Given the description of an element on the screen output the (x, y) to click on. 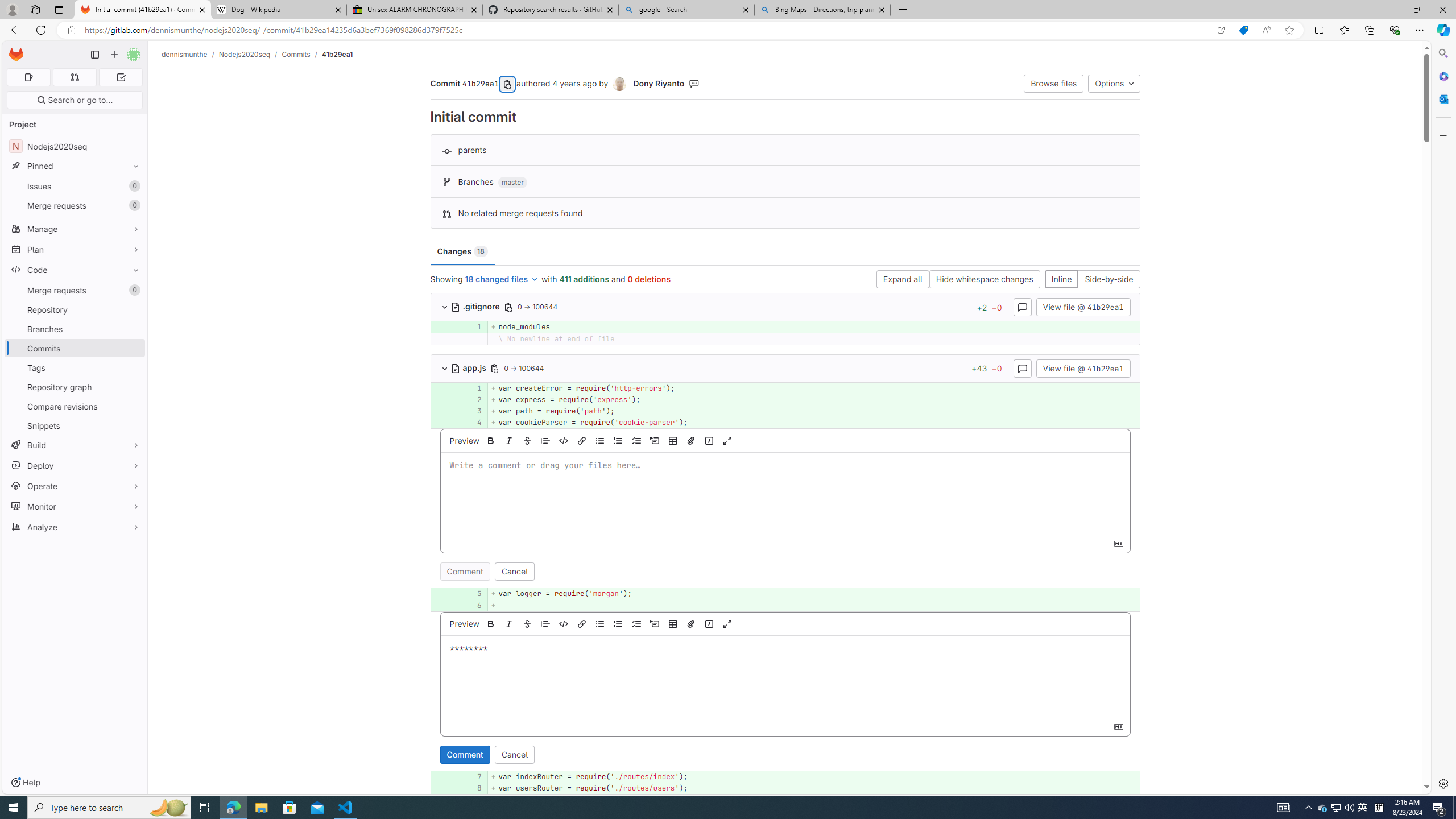
Add a link (Ctrl+K) (581, 623)
Nodejs2020seq/ (250, 53)
Operate (74, 485)
N Nodejs2020seq (74, 145)
Cancel (514, 754)
Add italic text (Ctrl+I) (508, 623)
NNodejs2020seq (74, 145)
Skip to main content (13, 49)
app.js  (470, 367)
+ var logger = require('morgan');  (813, 594)
